Given the description of an element on the screen output the (x, y) to click on. 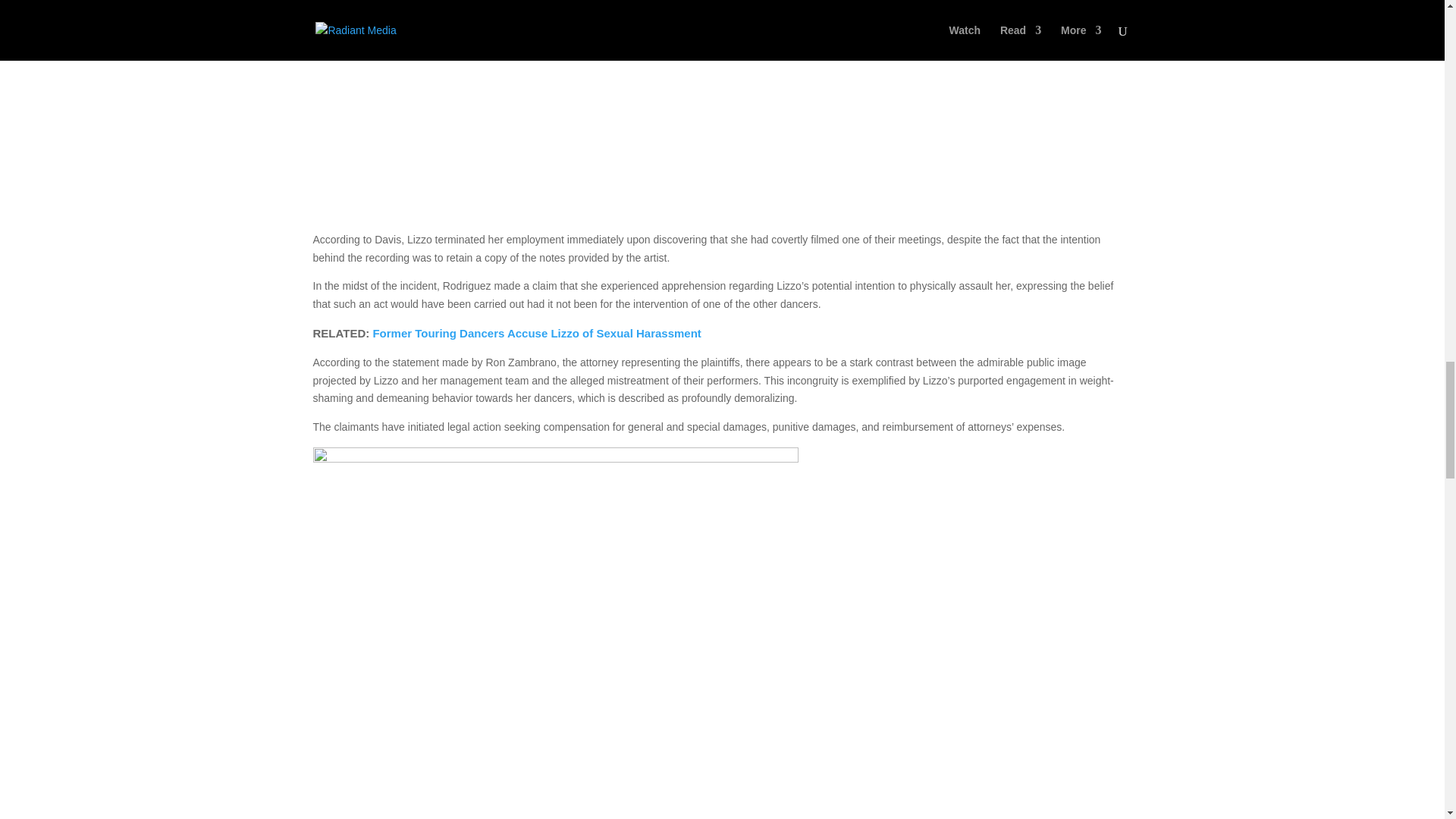
Former Touring Dancers Accuse Lizzo of Sexual Harassment (536, 332)
